Given the description of an element on the screen output the (x, y) to click on. 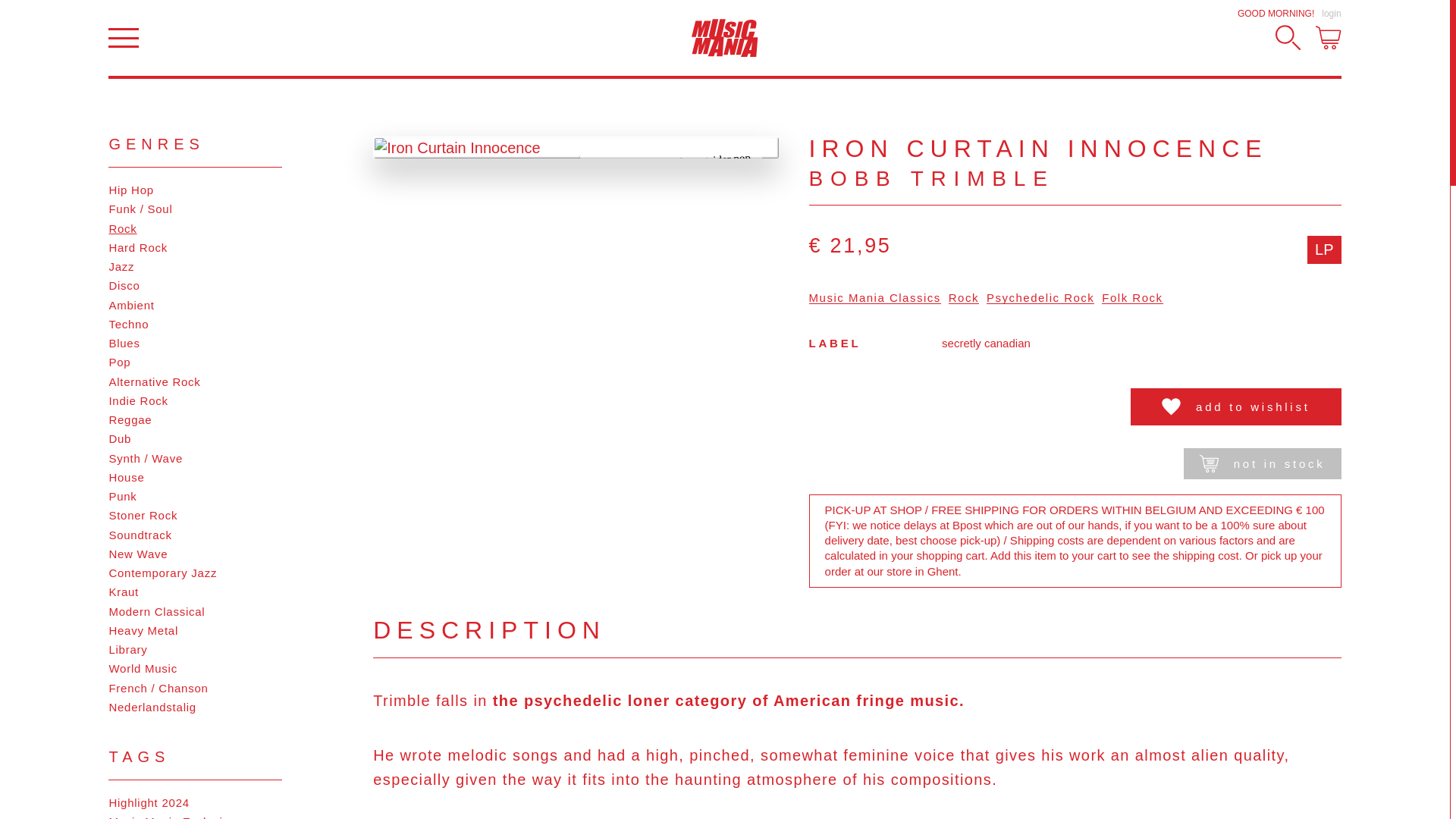
Disco (194, 285)
New Wave (194, 554)
Punk (194, 496)
Reggae (194, 419)
Modern Classical (194, 611)
Kraut (194, 591)
Stoner Rock (194, 515)
Hip Hop (194, 190)
Login (1331, 13)
Hip Hop (194, 190)
